Given the description of an element on the screen output the (x, y) to click on. 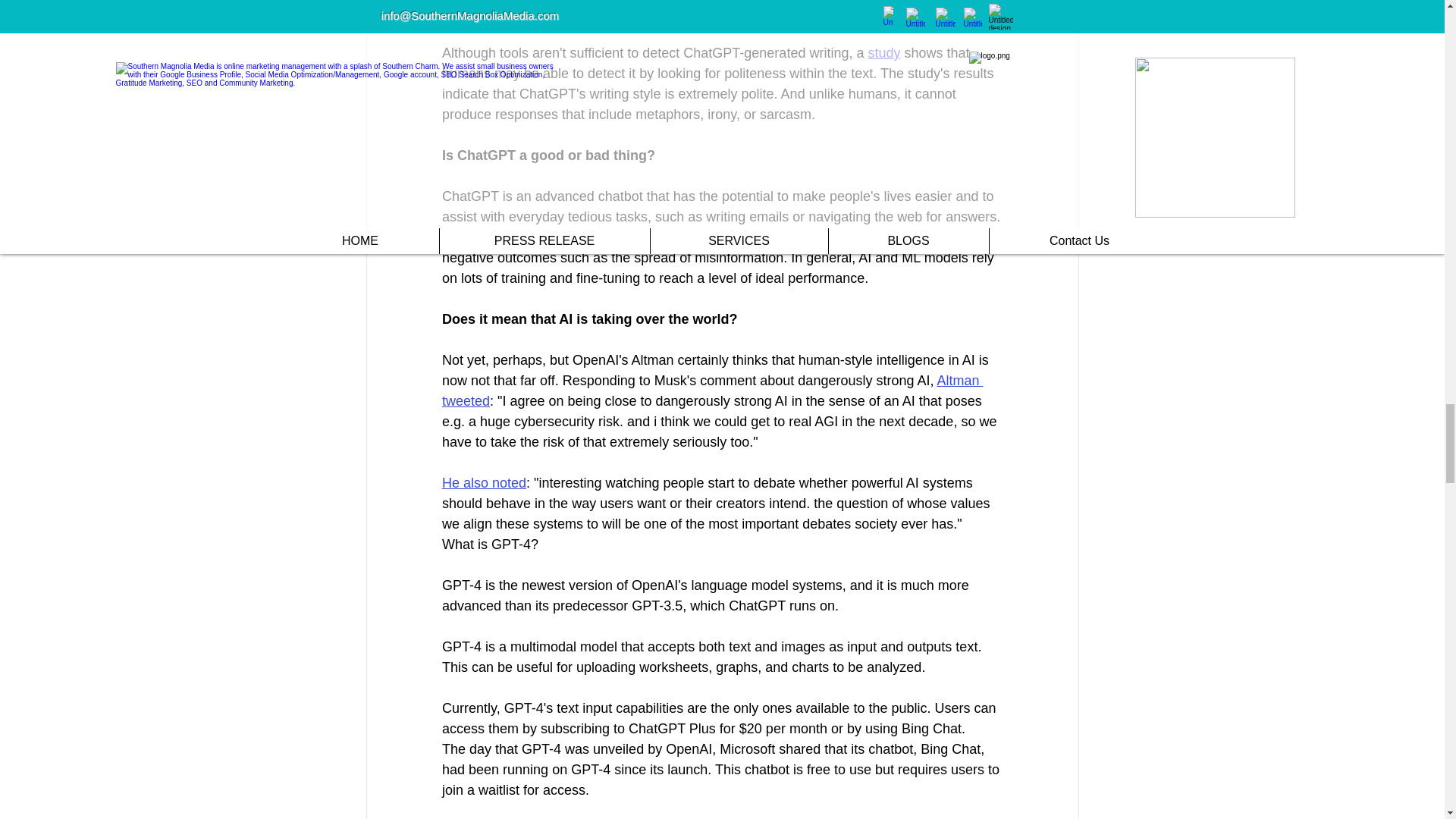
study (883, 52)
He also noted (483, 482)
Altman tweeted (711, 390)
